Given the description of an element on the screen output the (x, y) to click on. 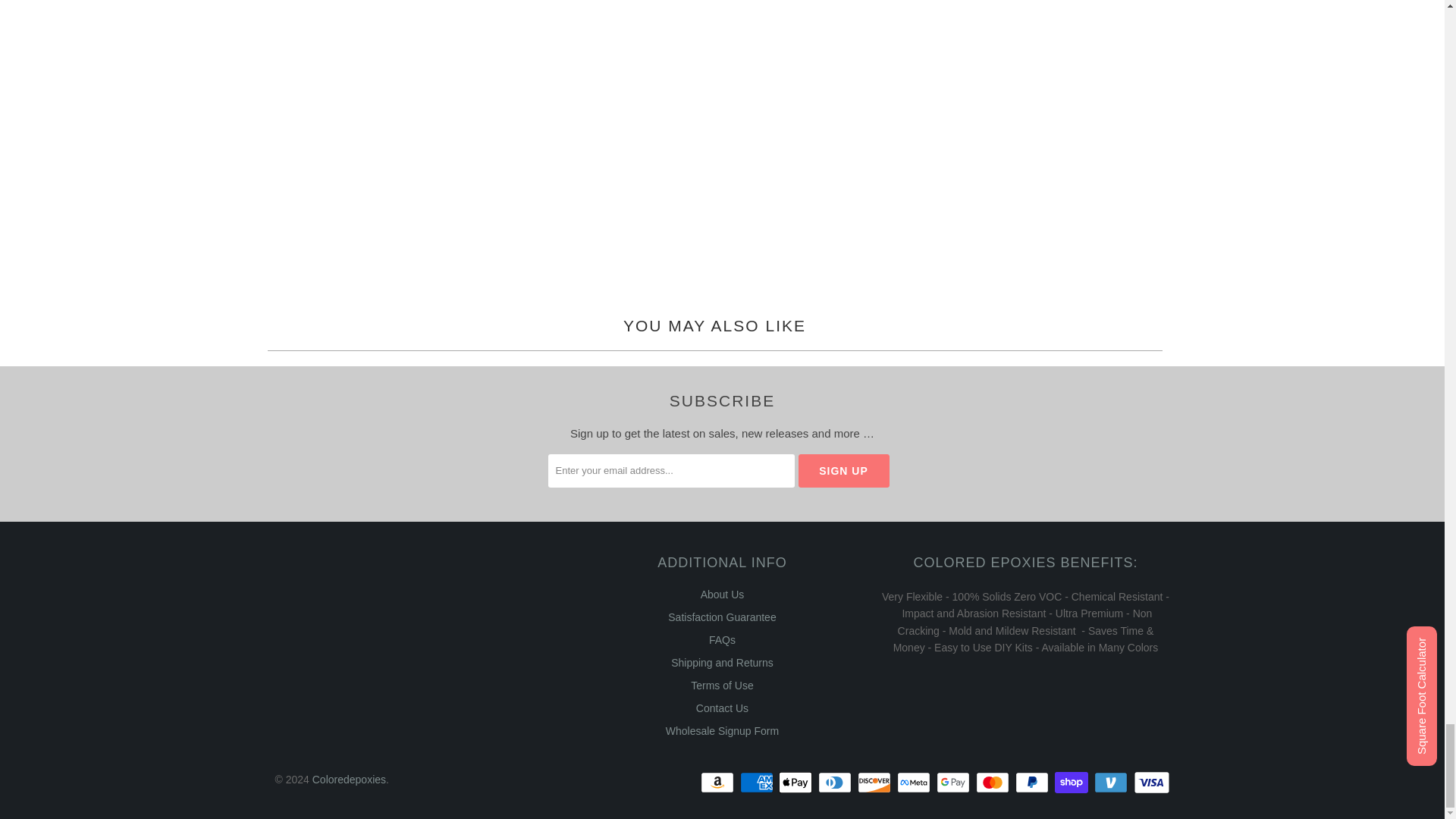
Google Pay (954, 782)
Shop Pay (1072, 782)
PayPal (1032, 782)
Meta Pay (914, 782)
Diners Club (836, 782)
American Express (757, 782)
Amazon (718, 782)
Apple Pay (796, 782)
Venmo (1112, 782)
Mastercard (993, 782)
